Given the description of an element on the screen output the (x, y) to click on. 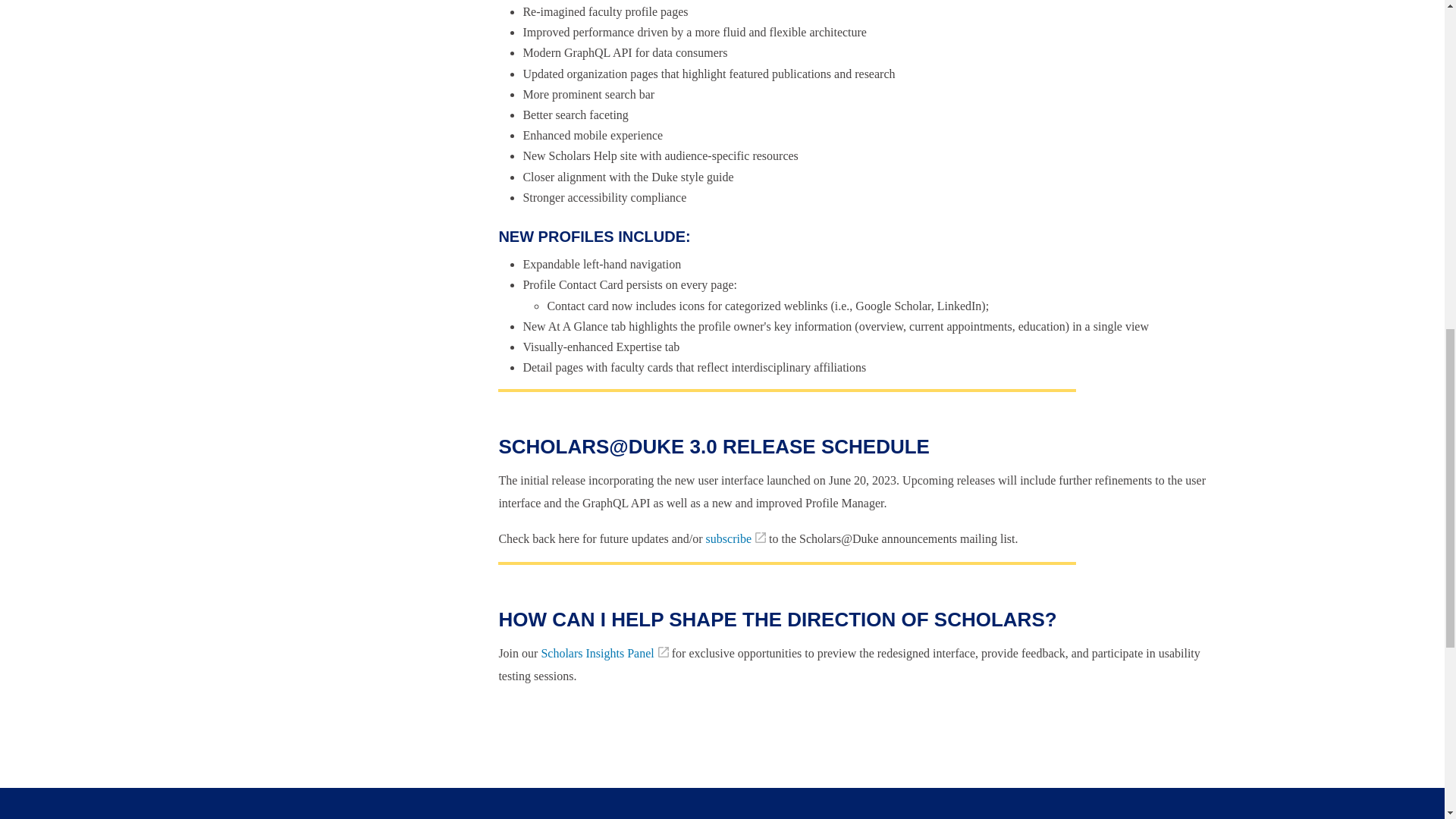
subscribe (735, 538)
Scholars Insights Panel (604, 653)
